Given the description of an element on the screen output the (x, y) to click on. 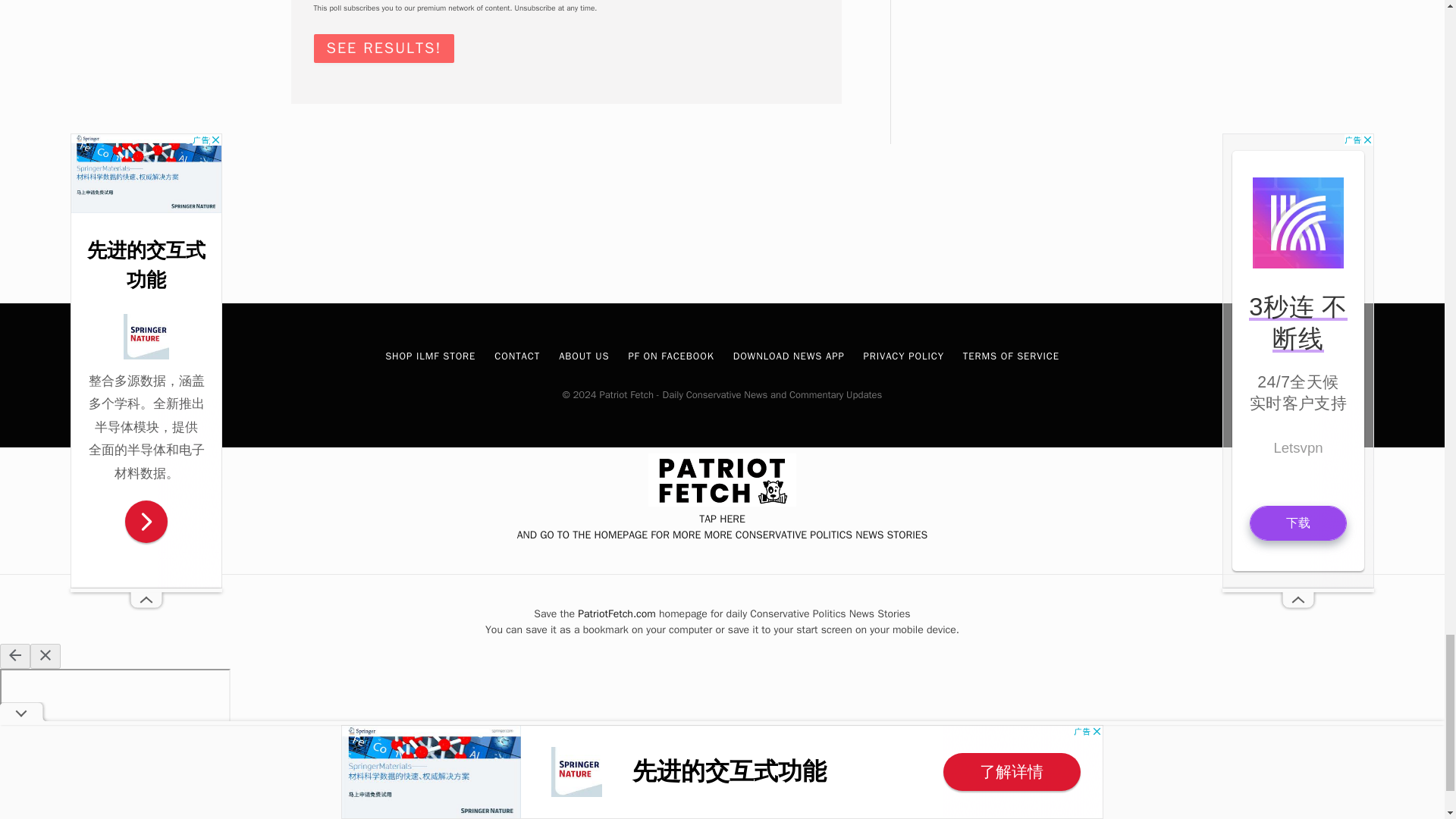
See Results! (384, 48)
